Given the description of an element on the screen output the (x, y) to click on. 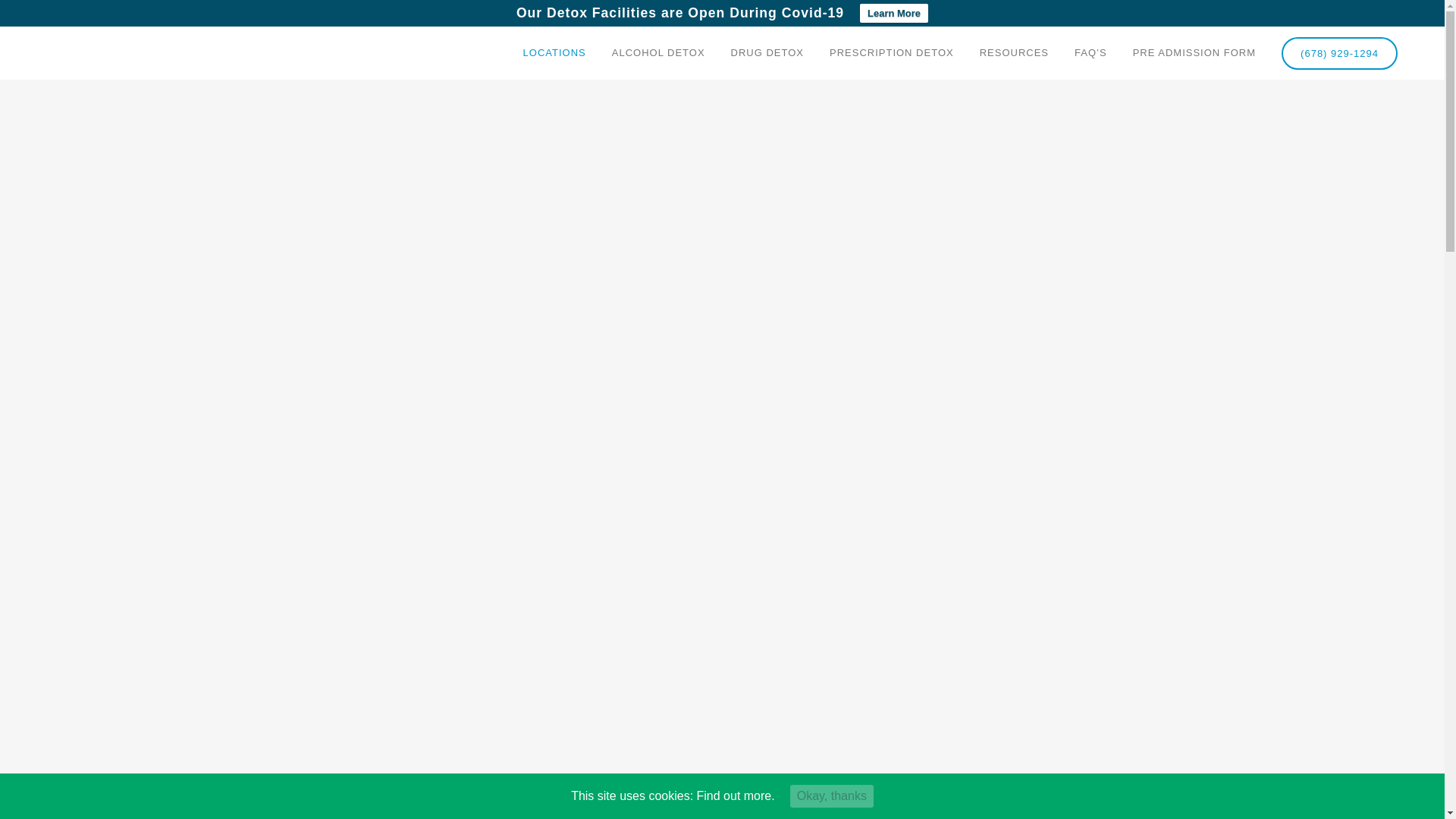
ALCOHOL DETOX (657, 52)
LOCATIONS (554, 52)
PRESCRIPTION DETOX (891, 52)
Learn More (894, 13)
DRUG DETOX (766, 52)
